Given the description of an element on the screen output the (x, y) to click on. 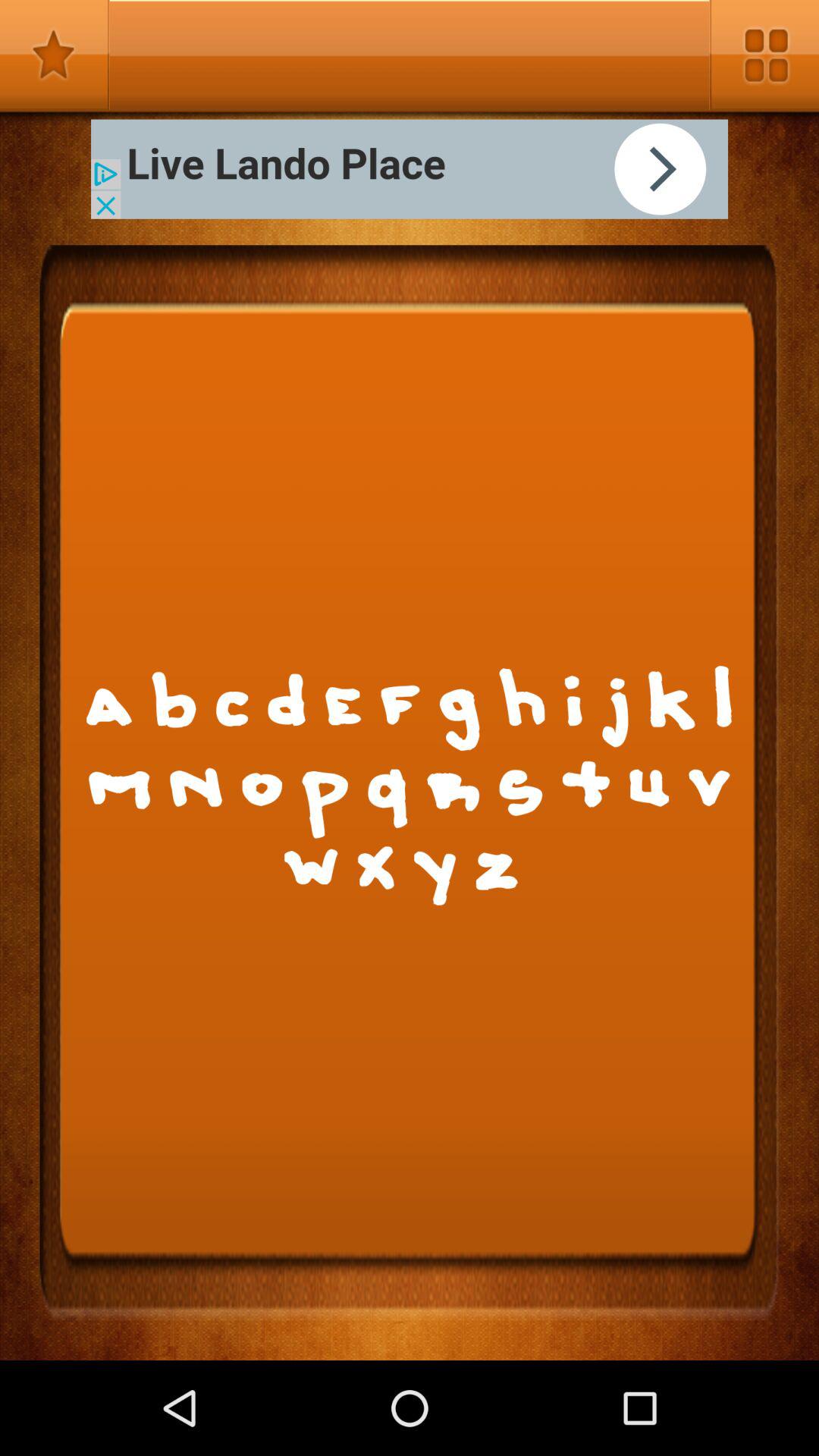
click option (409, 168)
